Given the description of an element on the screen output the (x, y) to click on. 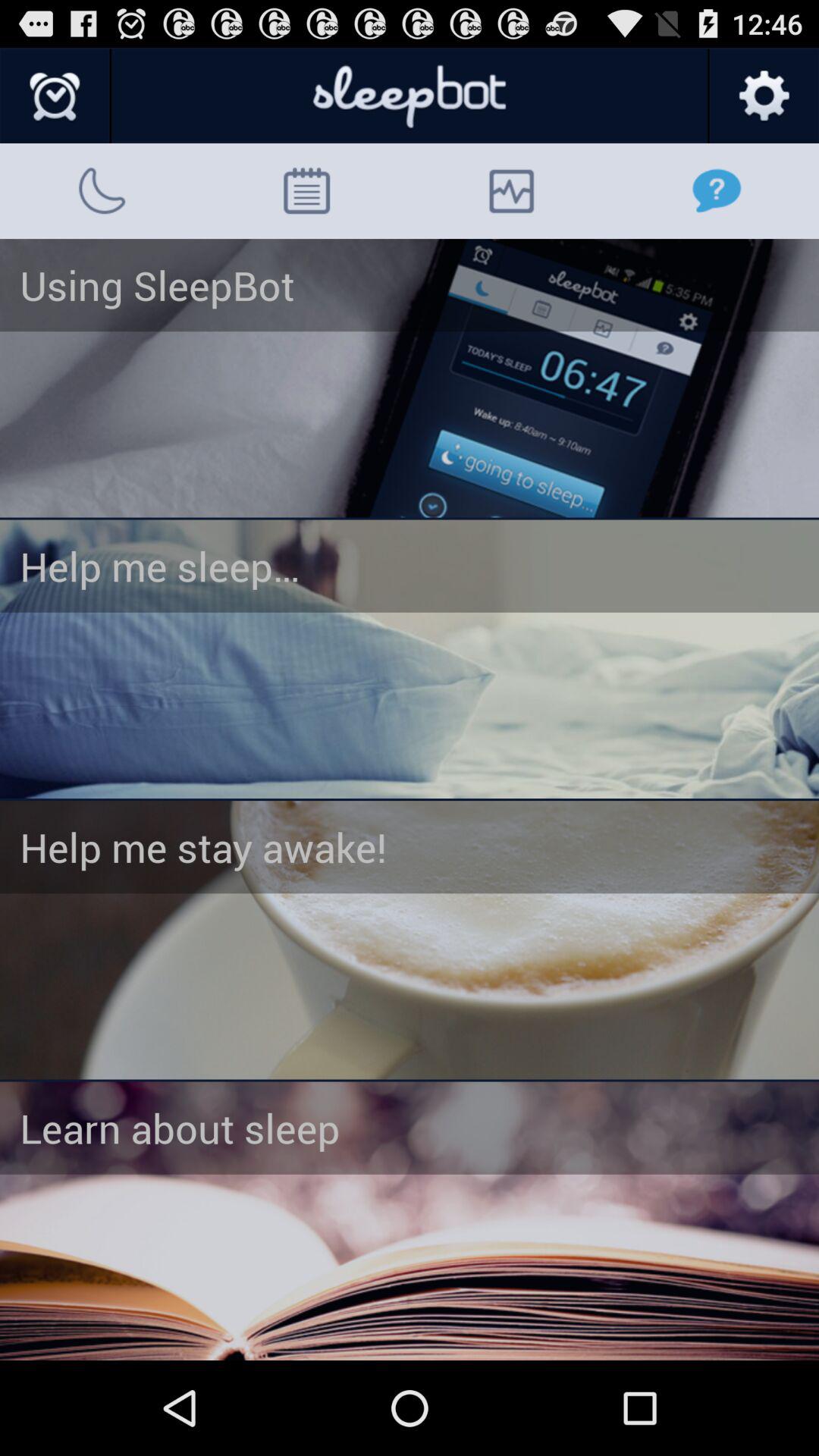
go to settings (763, 96)
